Given the description of an element on the screen output the (x, y) to click on. 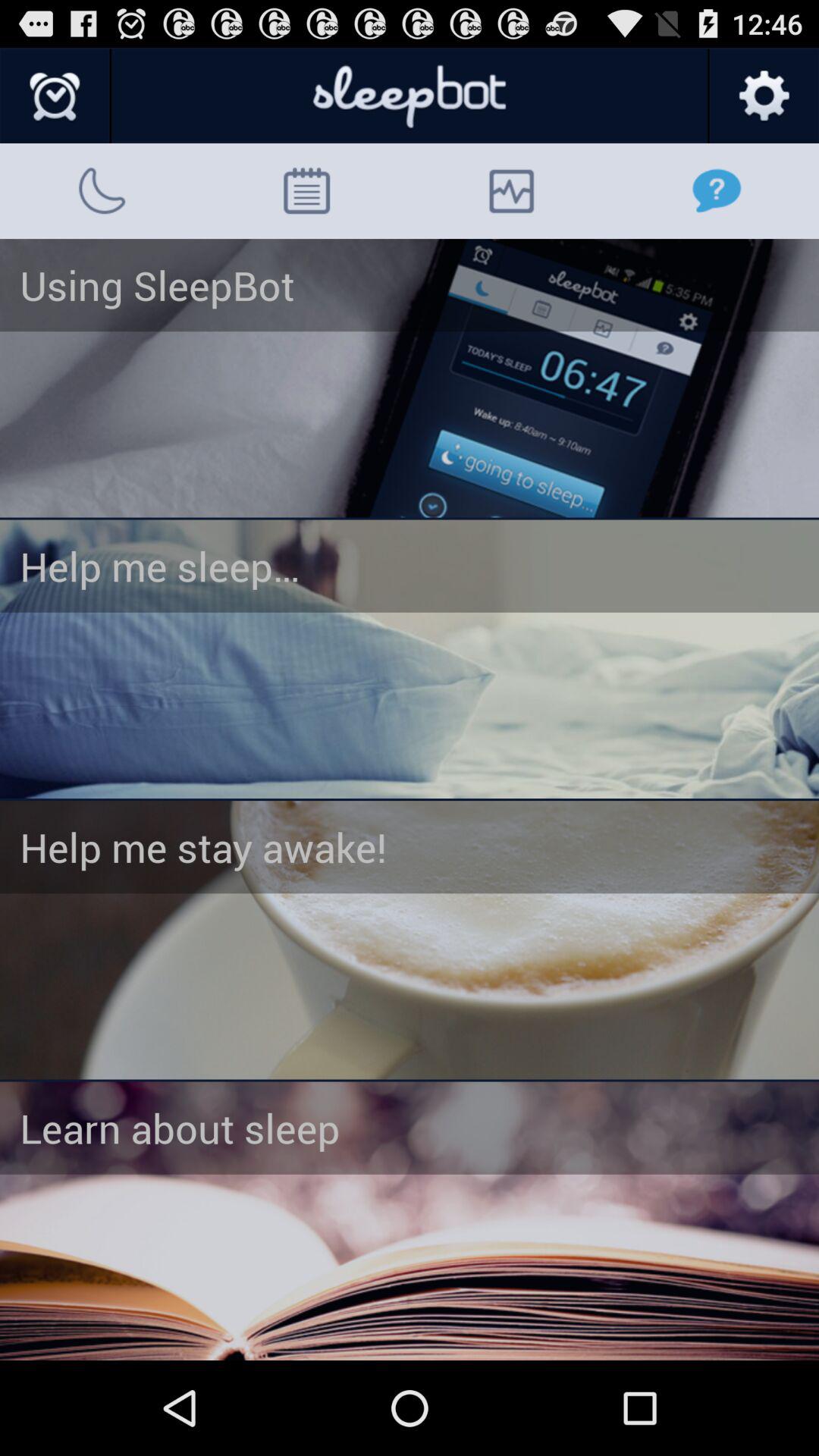
go to settings (763, 96)
